Given the description of an element on the screen output the (x, y) to click on. 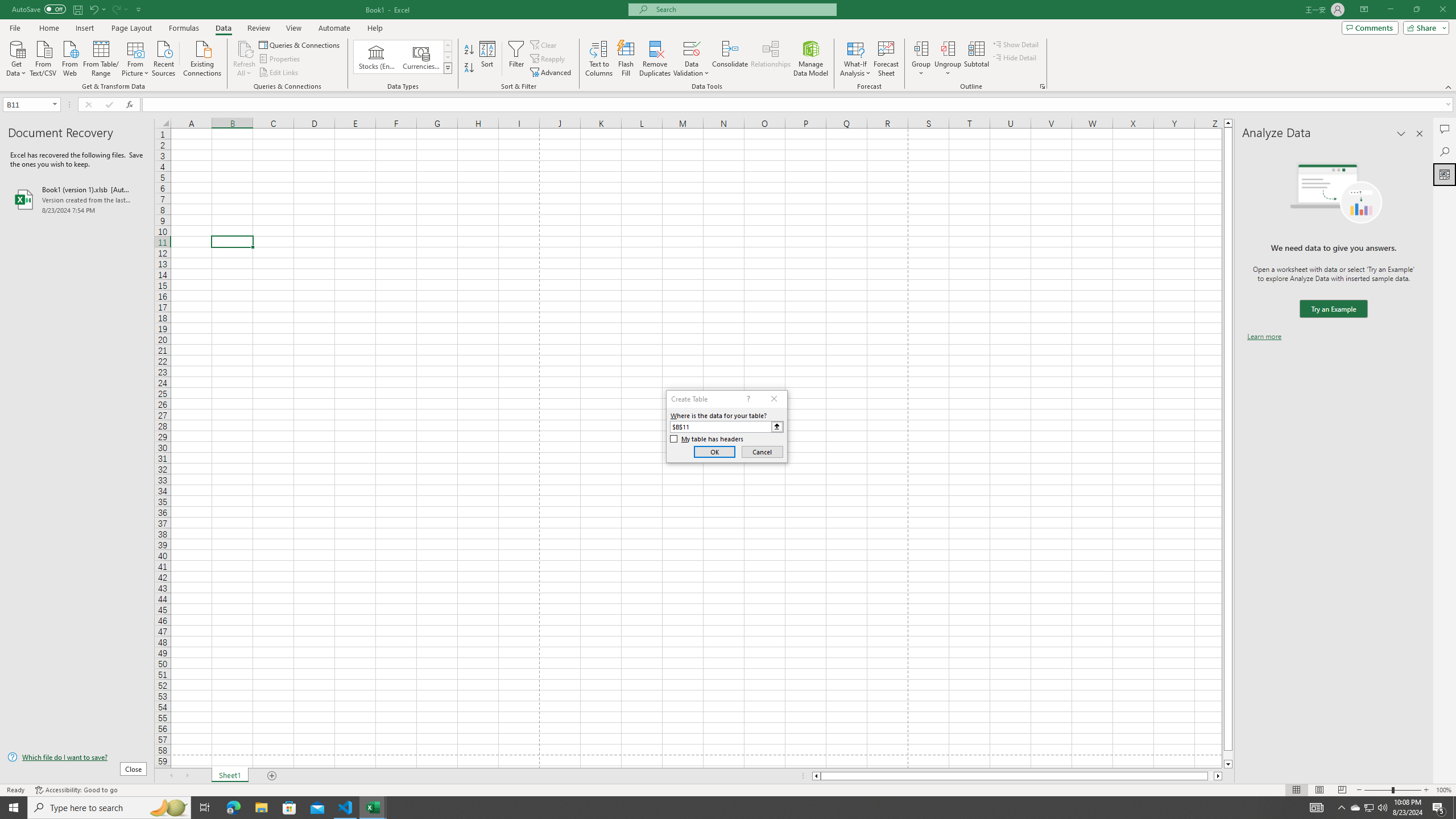
Manage Data Model (810, 58)
Currencies (English) (420, 56)
Show Detail (1016, 44)
Advanced... (551, 72)
